Given the description of an element on the screen output the (x, y) to click on. 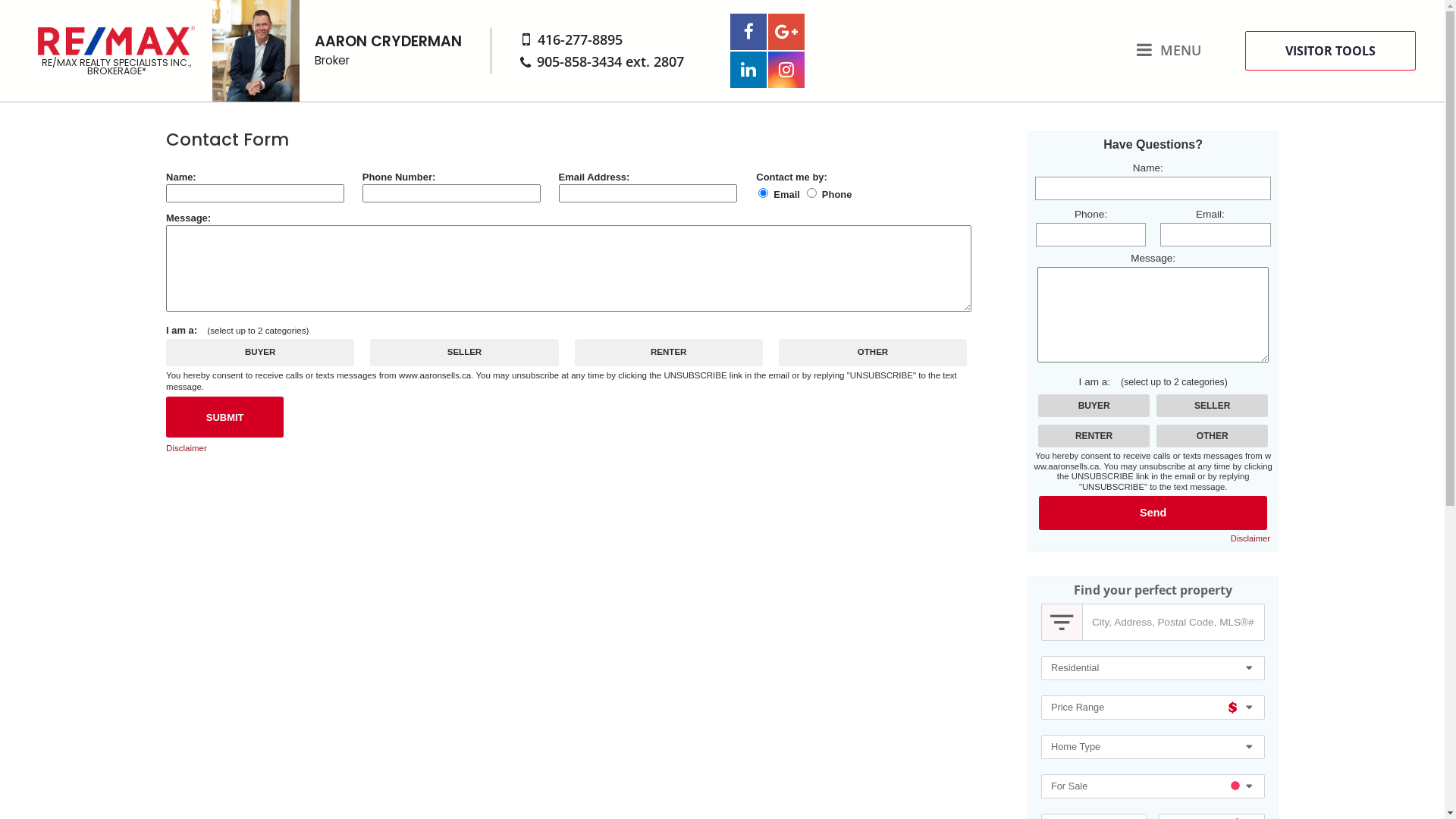
Home Type Element type: text (1152, 746)
Residential Element type: text (1152, 667)
Price Range Element type: text (1152, 707)
BUYER Element type: text (4, 4)
Send Element type: text (1152, 512)
SUBMIT Element type: text (224, 416)
RE/MAX REALTY SPECIALISTS INC., BROKERAGE* Element type: text (115, 50)
Disclaimer Element type: text (1250, 538)
Search by Element type: text (1061, 622)
For Sale Element type: text (1152, 786)
VISITOR TOOLS Element type: text (1330, 50)
905-858-3434 ext. 2807 Element type: text (610, 61)
416-277-8895 Element type: text (579, 39)
Disclaimer Element type: text (186, 448)
MENU Element type: text (1168, 49)
